Given the description of an element on the screen output the (x, y) to click on. 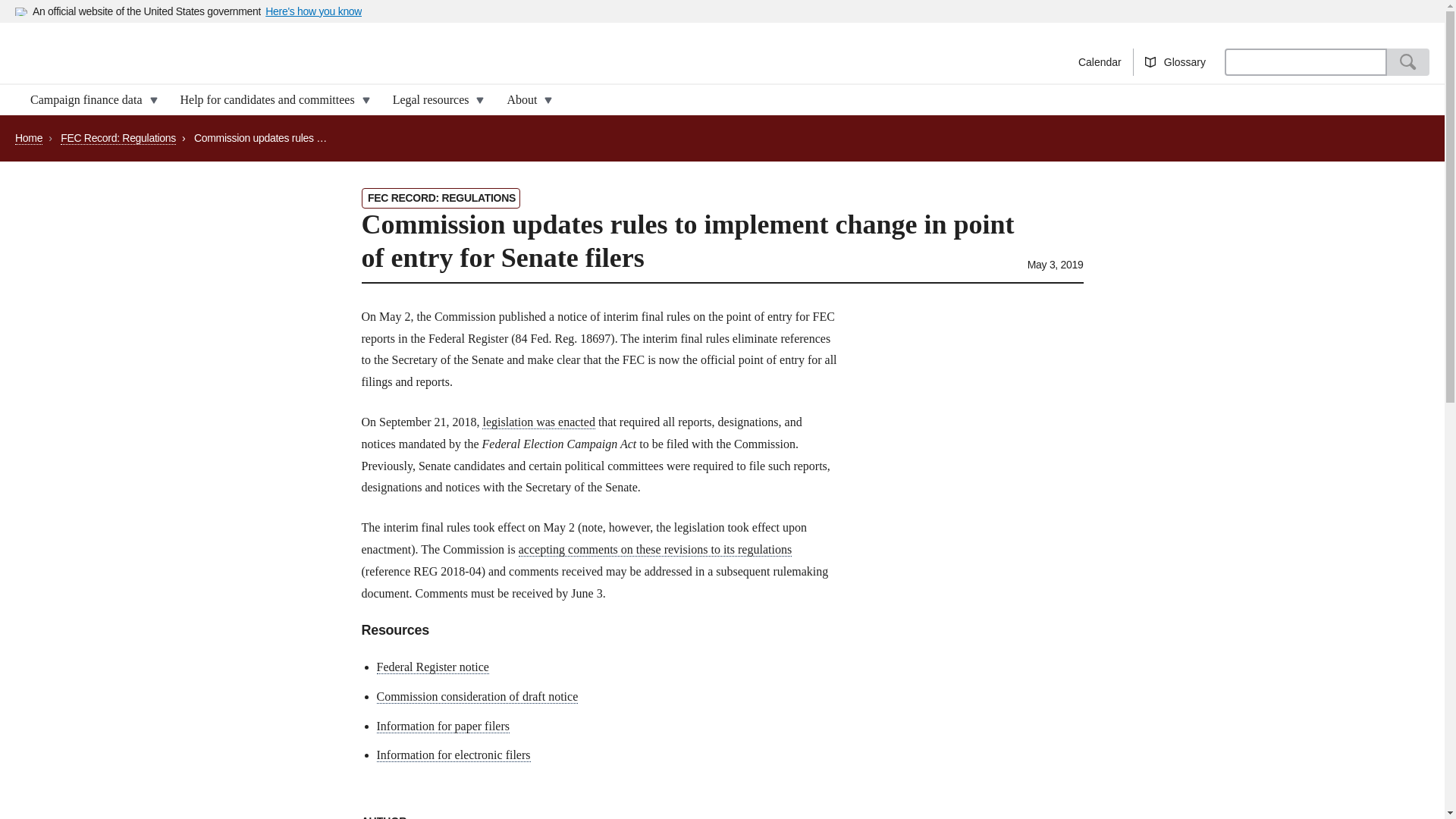
Glossary (1174, 61)
Campaign finance data (89, 100)
Legal resources (434, 100)
Home (361, 61)
About (525, 100)
Help for candidates and committees (271, 100)
Calendar (1099, 61)
